Given the description of an element on the screen output the (x, y) to click on. 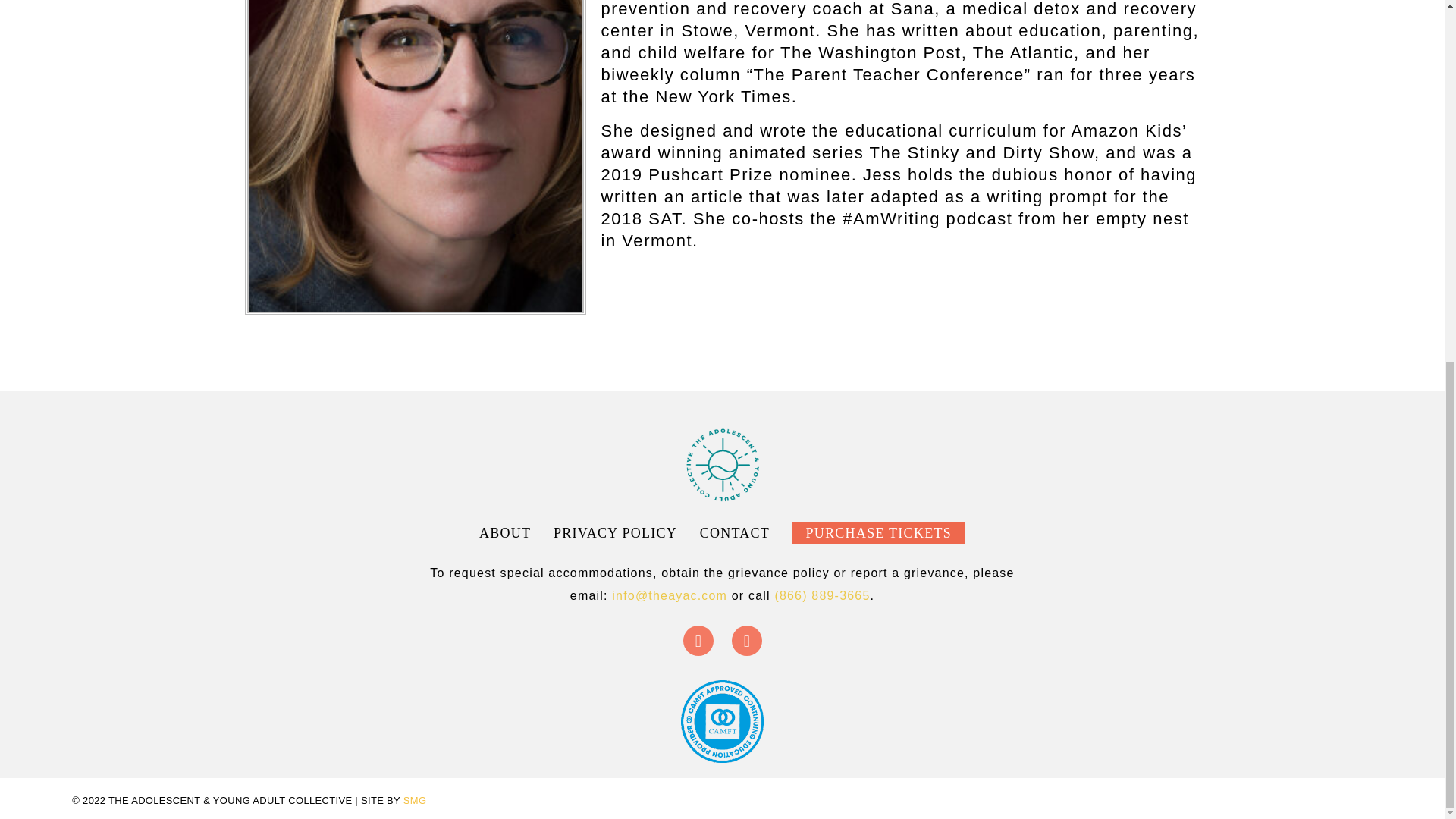
PURCHASE TICKETS (878, 532)
CONTACT (735, 532)
ABOUT (505, 532)
SMG (414, 799)
PRIVACY POLICY (615, 532)
